Given the description of an element on the screen output the (x, y) to click on. 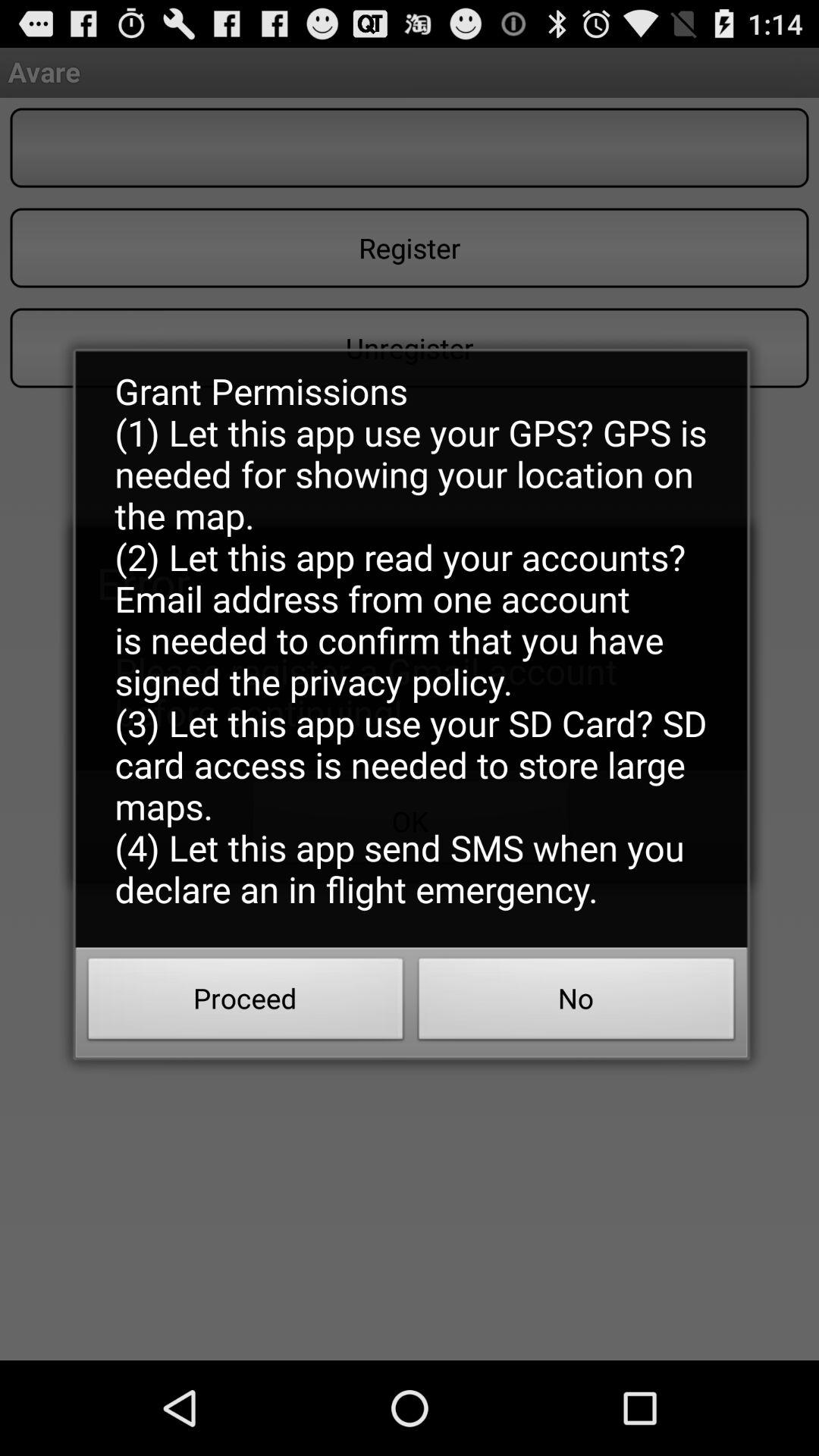
select icon below the grant permissions 1 app (245, 1003)
